Given the description of an element on the screen output the (x, y) to click on. 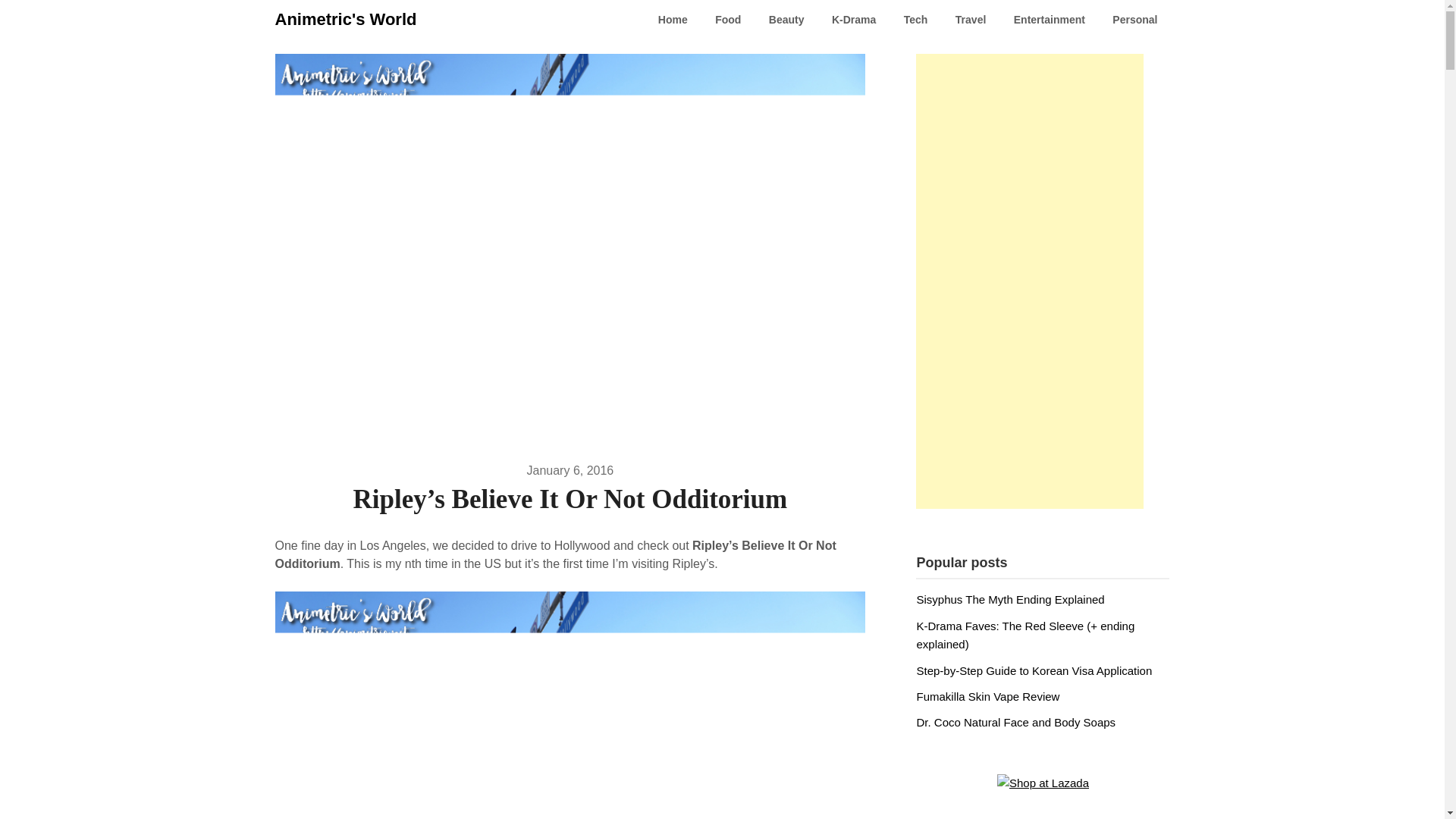
Animetric's World (345, 19)
K-Drama (853, 20)
Food (727, 20)
Step-by-Step Guide to Korean Visa Application (1033, 670)
Entertainment (1049, 20)
Home (673, 20)
Fumakilla Skin Vape Review (987, 696)
Tech (915, 20)
Sisyphus The Myth Ending Explained (1009, 599)
Step-by-Step Guide to Korean Visa Application (1033, 670)
